Given the description of an element on the screen output the (x, y) to click on. 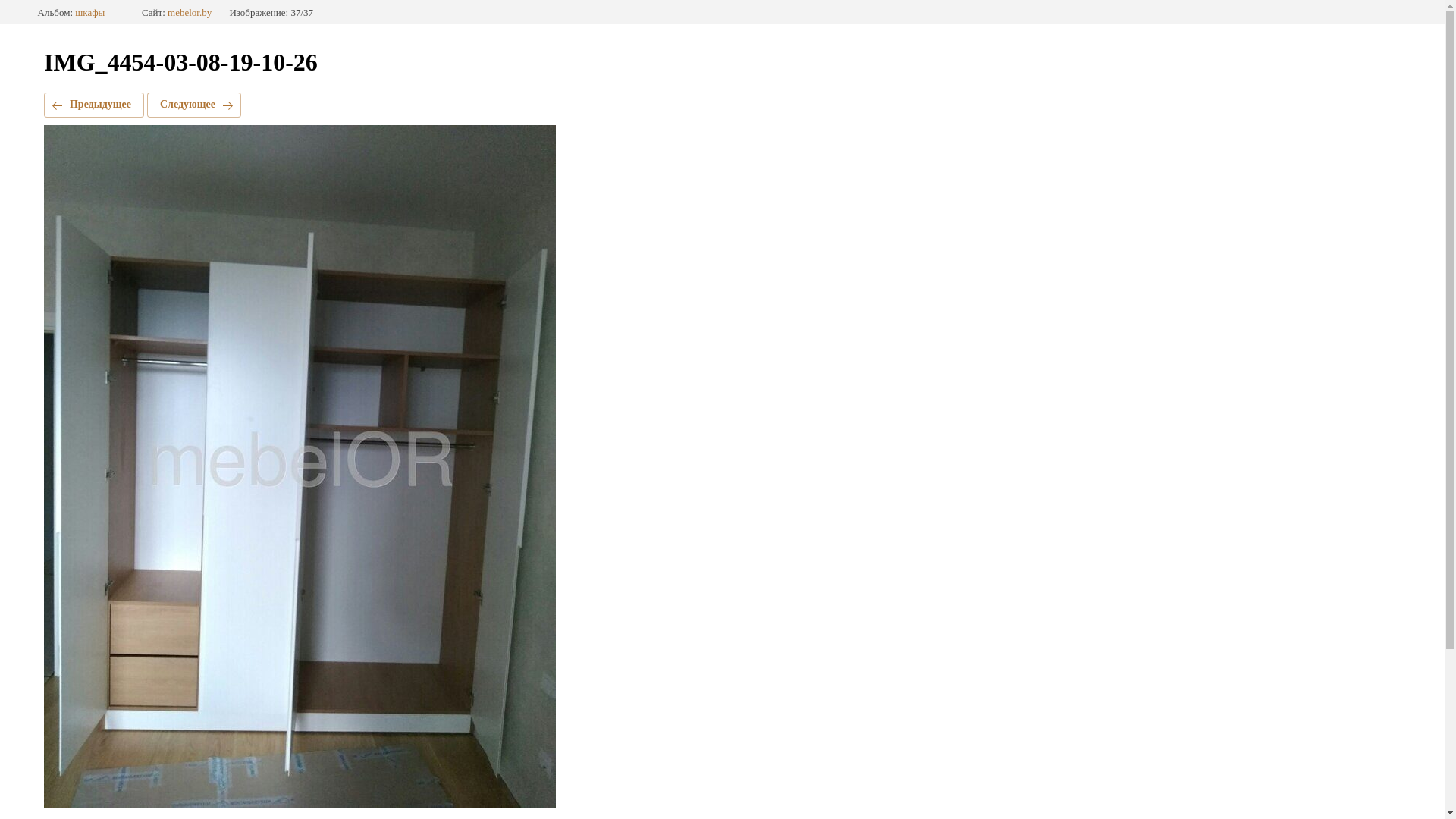
mebelor.by Element type: text (189, 12)
